Given the description of an element on the screen output the (x, y) to click on. 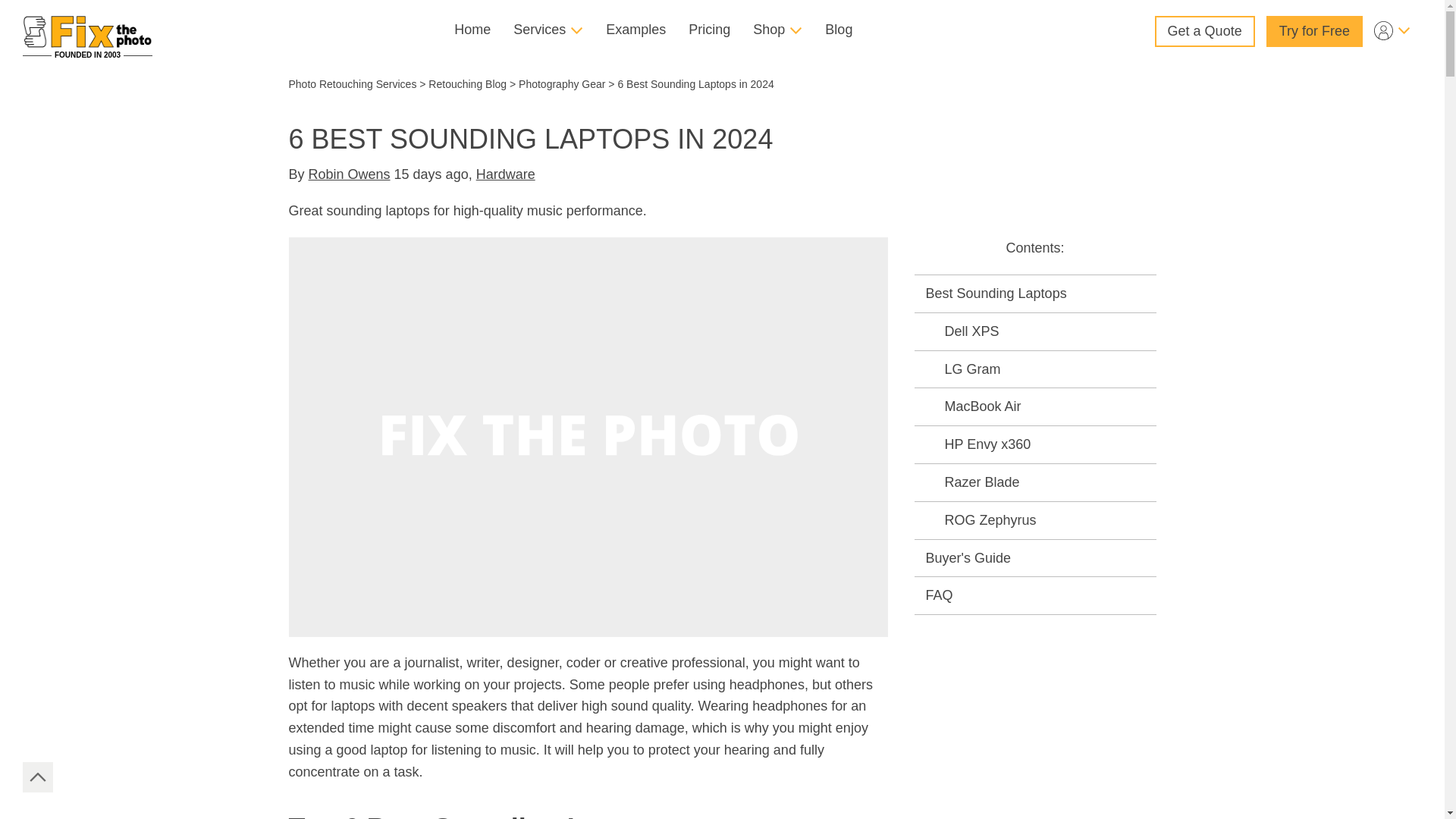
Image retouching service (87, 31)
Blog (838, 29)
Shop (777, 29)
Services (548, 29)
Examples (635, 29)
Home (472, 29)
Shop (777, 29)
Pricing (709, 29)
FOUNDED IN 2003 (87, 31)
Services (548, 29)
Professional photo editing services (472, 29)
Try for Free (1314, 30)
Get a Quote (1204, 30)
Pricing (709, 29)
